Given the description of an element on the screen output the (x, y) to click on. 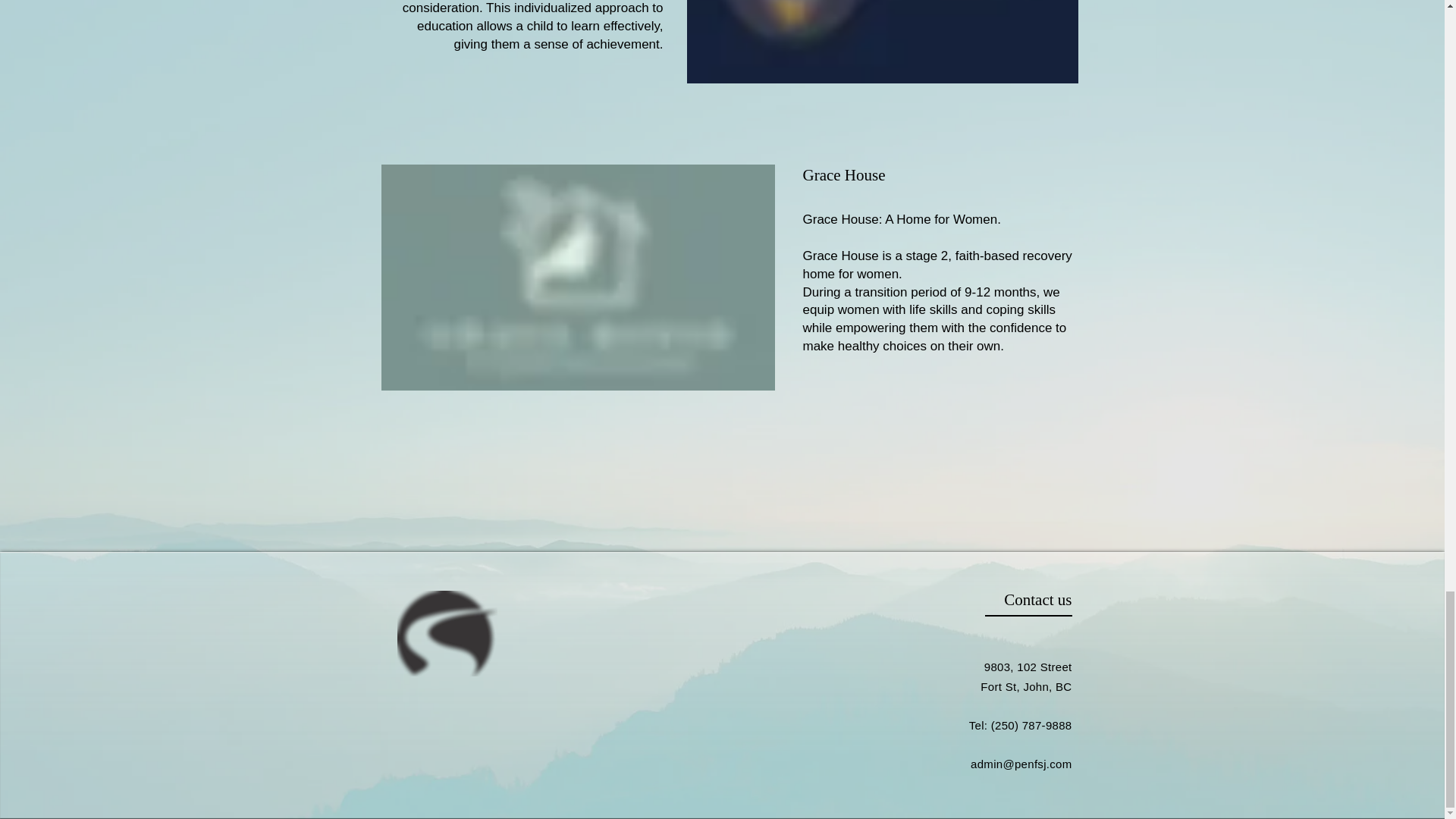
Grace House (843, 175)
